Given the description of an element on the screen output the (x, y) to click on. 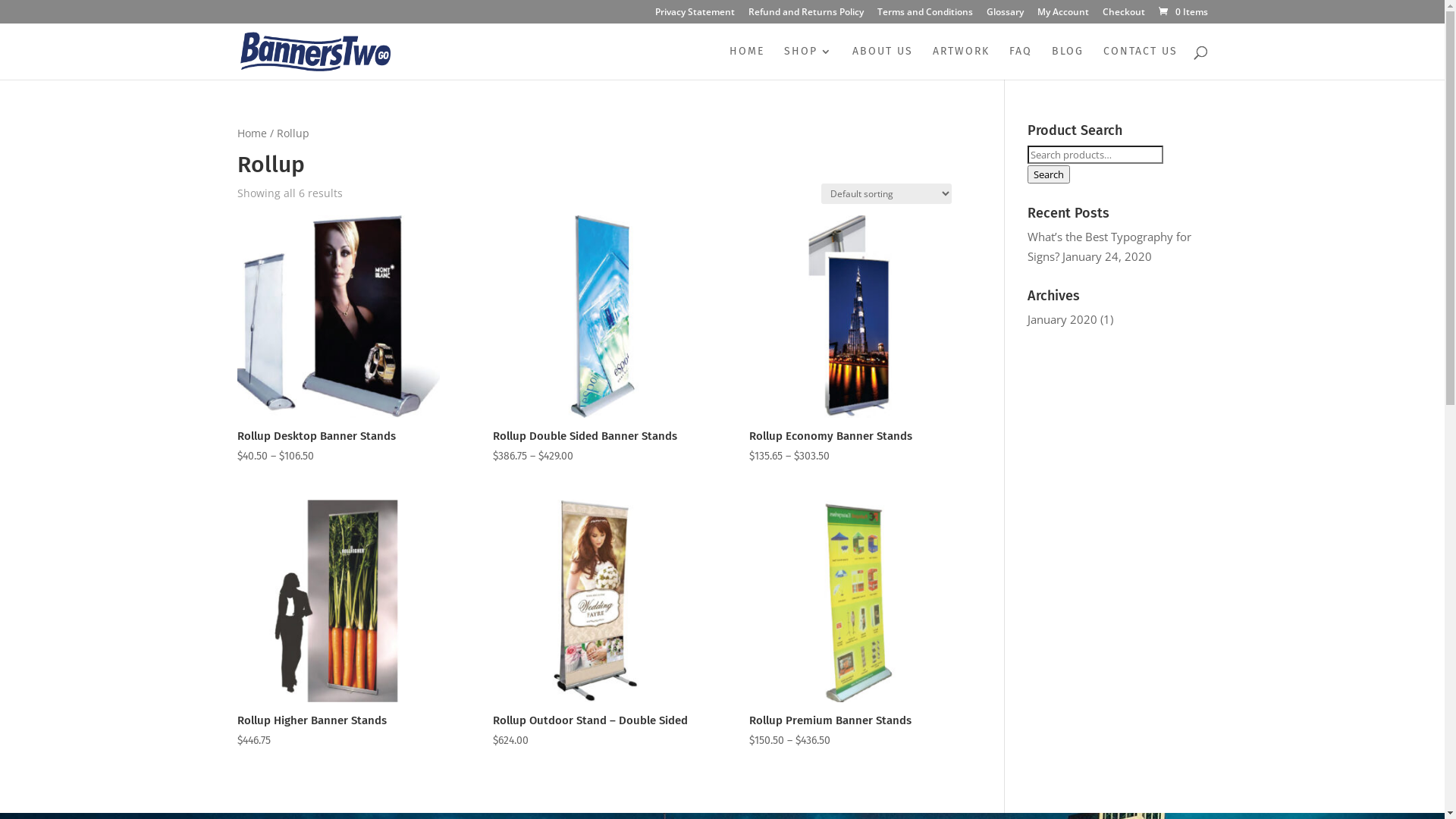
Privacy Statement Element type: text (694, 15)
BLOG Element type: text (1066, 62)
Rollup Higher Banner Stands
$446.75 Element type: text (337, 624)
January 2020 Element type: text (1062, 318)
Search Element type: text (1048, 174)
HOME Element type: text (746, 62)
ABOUT US Element type: text (882, 62)
CONTACT US Element type: text (1139, 62)
SHOP Element type: text (808, 62)
Refund and Returns Policy Element type: text (804, 15)
Checkout Element type: text (1123, 15)
My Account Element type: text (1062, 15)
Terms and Conditions Element type: text (924, 15)
Home Element type: text (251, 132)
FAQ Element type: text (1019, 62)
0 Items Element type: text (1181, 11)
Glossary Element type: text (1003, 15)
ARTWORK Element type: text (960, 62)
